Given the description of an element on the screen output the (x, y) to click on. 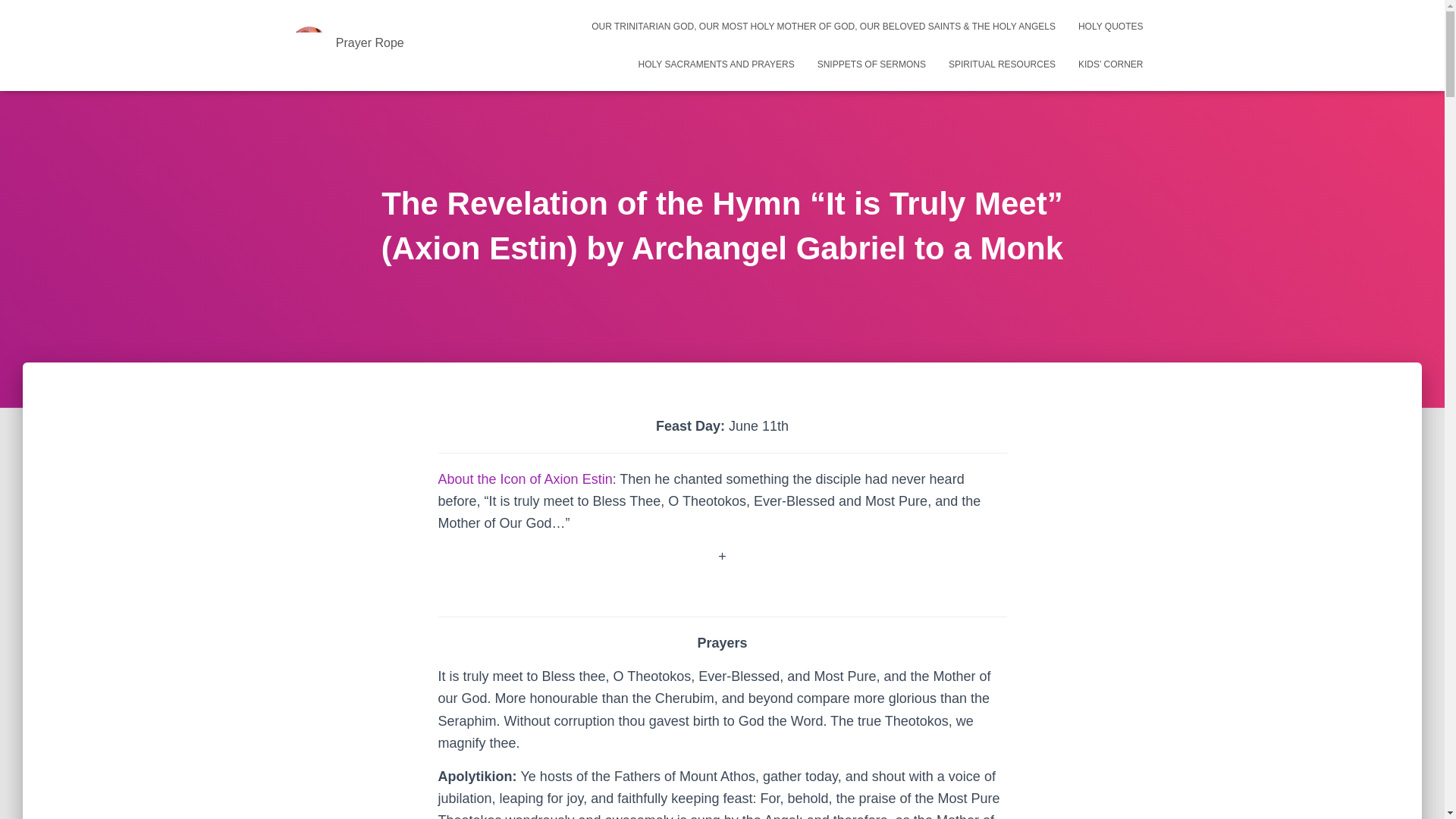
SNIPPETS OF SERMONS (871, 64)
About the Icon of Axion Estin (525, 478)
HOLY QUOTES (1110, 26)
Prayer Rope (346, 45)
SPIRITUAL RESOURCES (1002, 64)
Holy Quotes (1110, 26)
Spiritual Resources (1002, 64)
HOLY SACRAMENTS AND PRAYERS (716, 64)
Holy Sacraments and Prayers (716, 64)
Prayer Rope (346, 45)
